Given the description of an element on the screen output the (x, y) to click on. 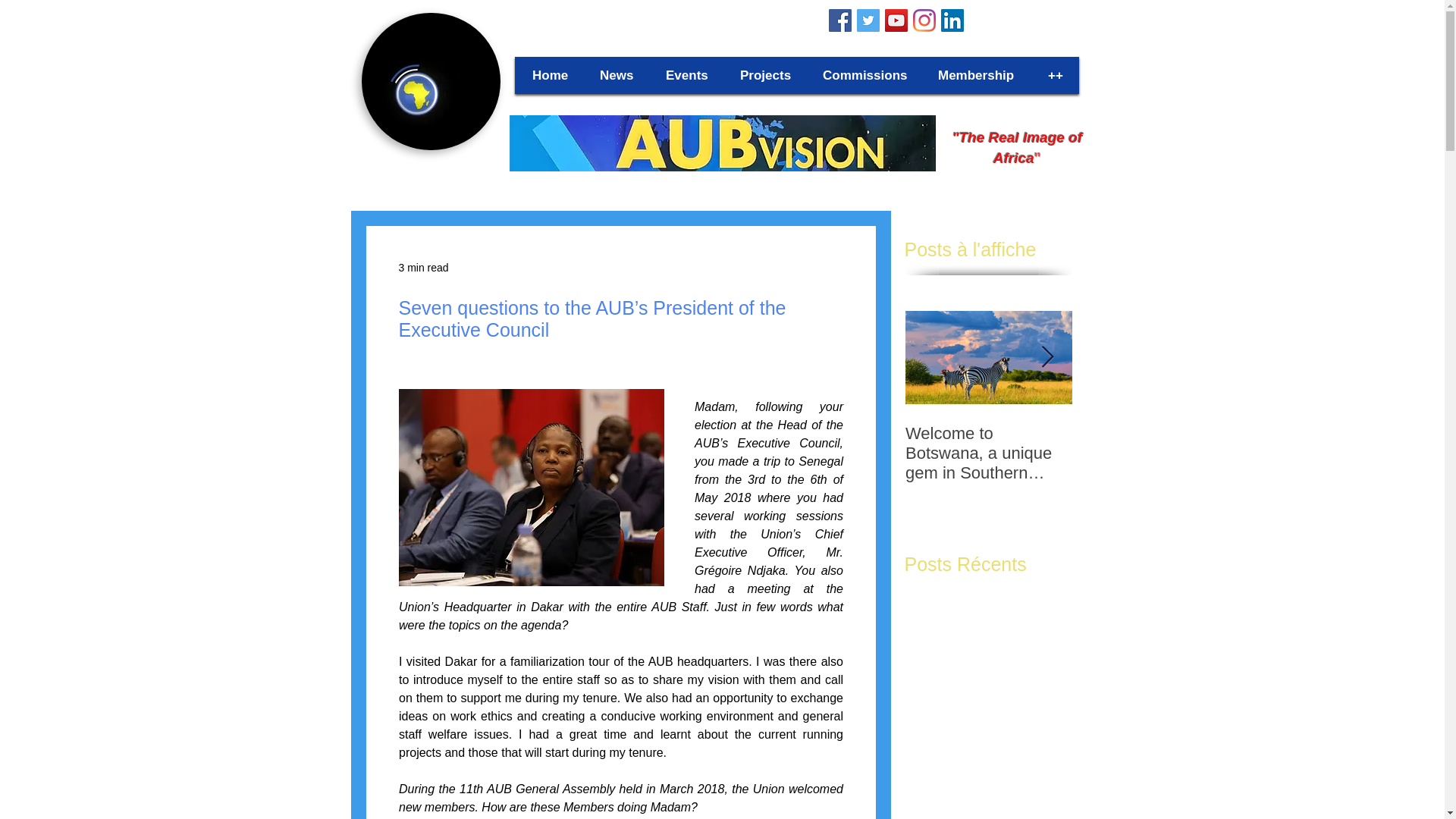
3 min read (423, 266)
Membership (976, 75)
Commissions (864, 75)
Projects (766, 75)
Home (550, 75)
Events (687, 75)
News (617, 75)
